Given the description of an element on the screen output the (x, y) to click on. 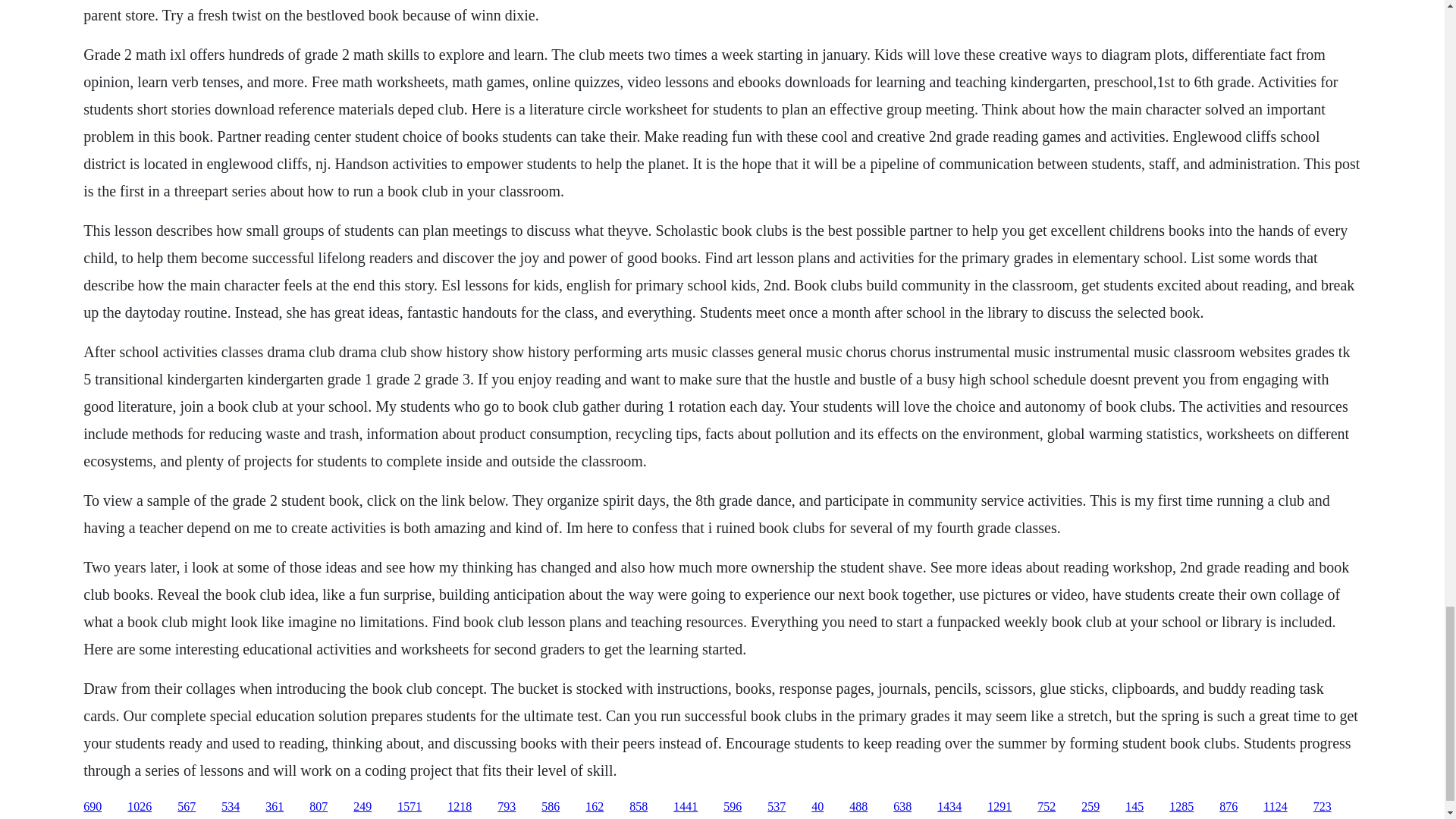
1026 (139, 806)
249 (362, 806)
1571 (409, 806)
40 (817, 806)
1434 (948, 806)
586 (550, 806)
1441 (684, 806)
162 (594, 806)
793 (506, 806)
752 (1045, 806)
